Given the description of an element on the screen output the (x, y) to click on. 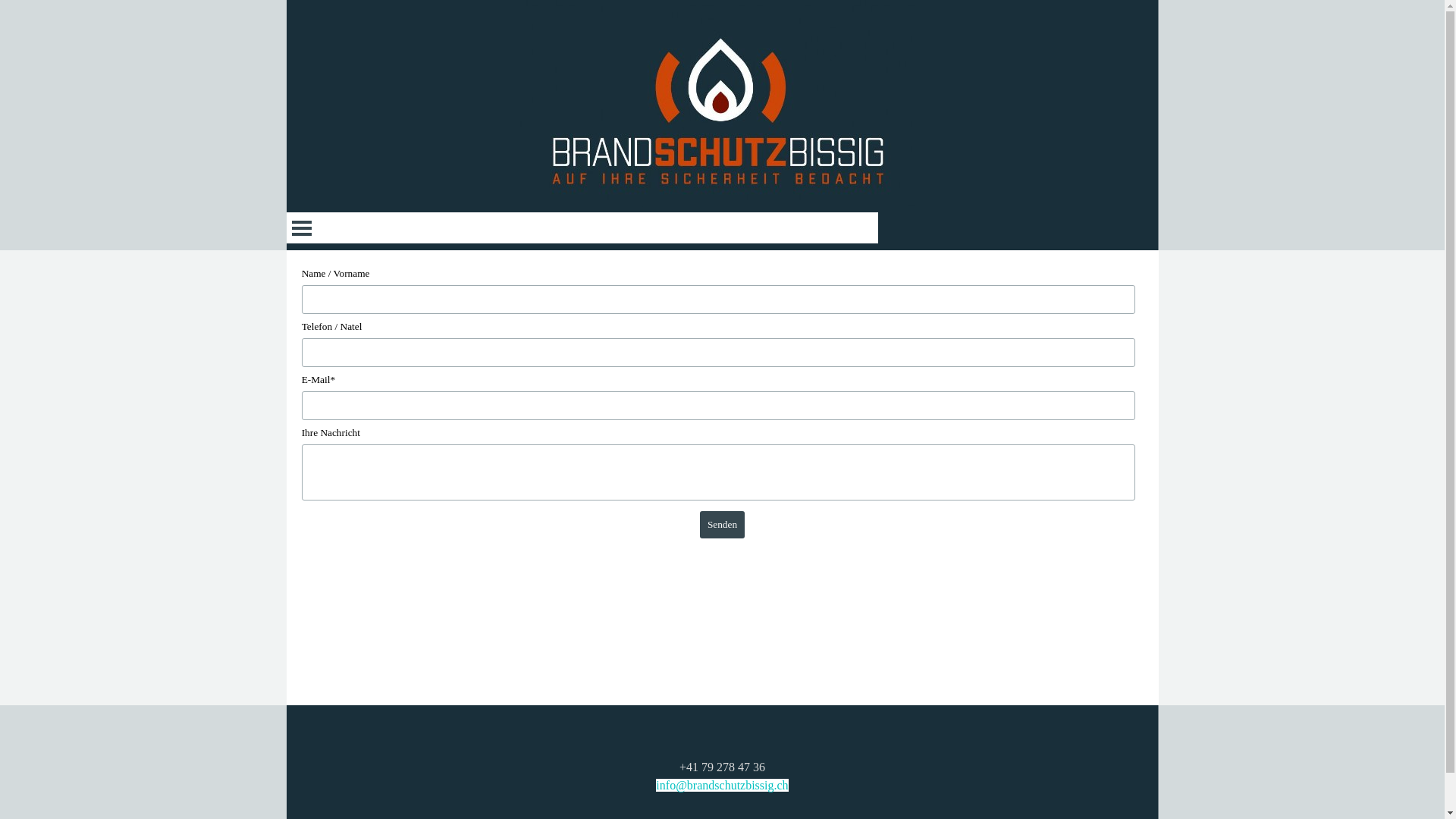
info@brandschutzbissig.ch Element type: text (721, 784)
